Given the description of an element on the screen output the (x, y) to click on. 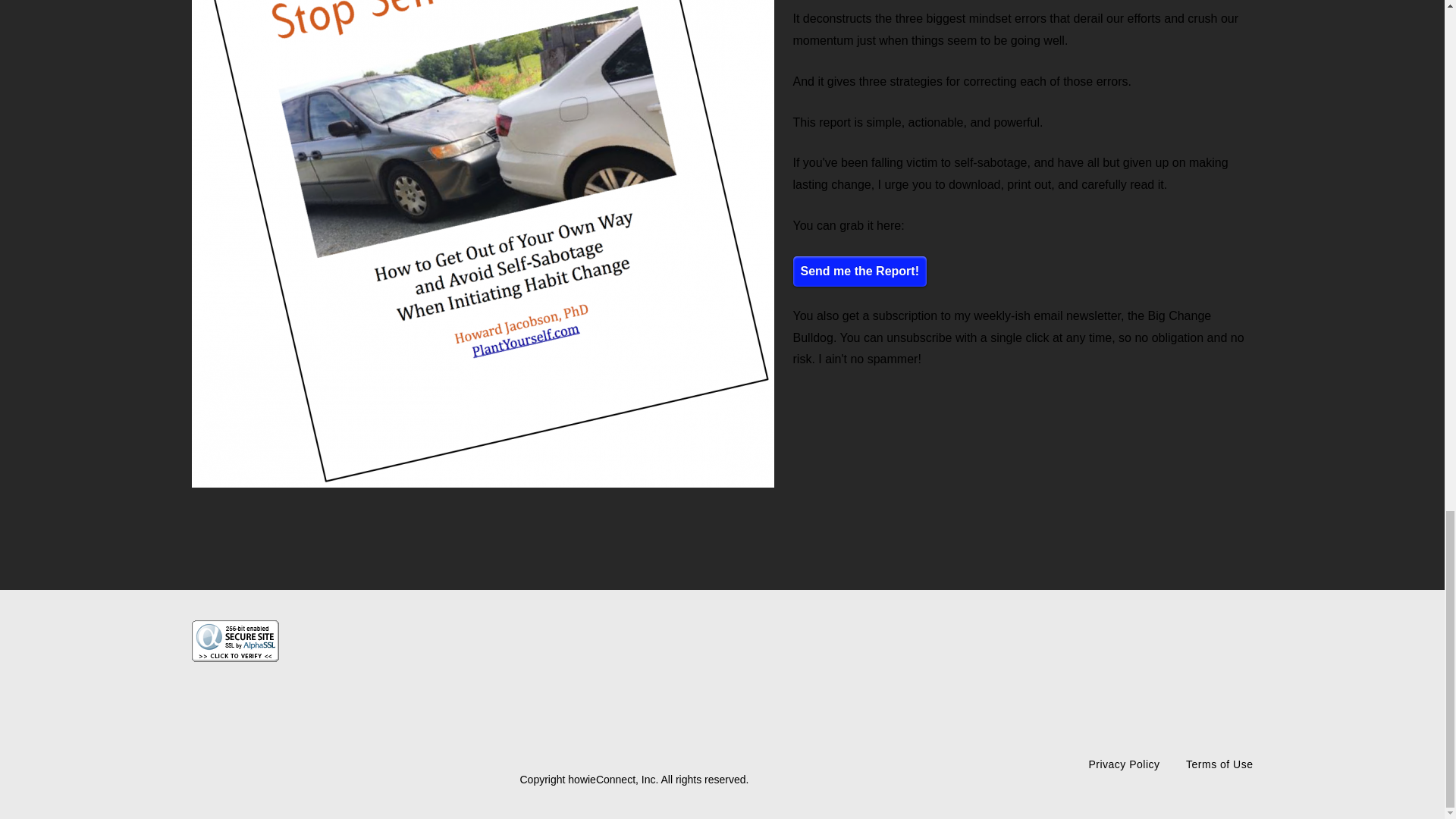
Terms of Use (1219, 764)
Send me the Report! (859, 271)
Privacy Policy (1122, 764)
